Given the description of an element on the screen output the (x, y) to click on. 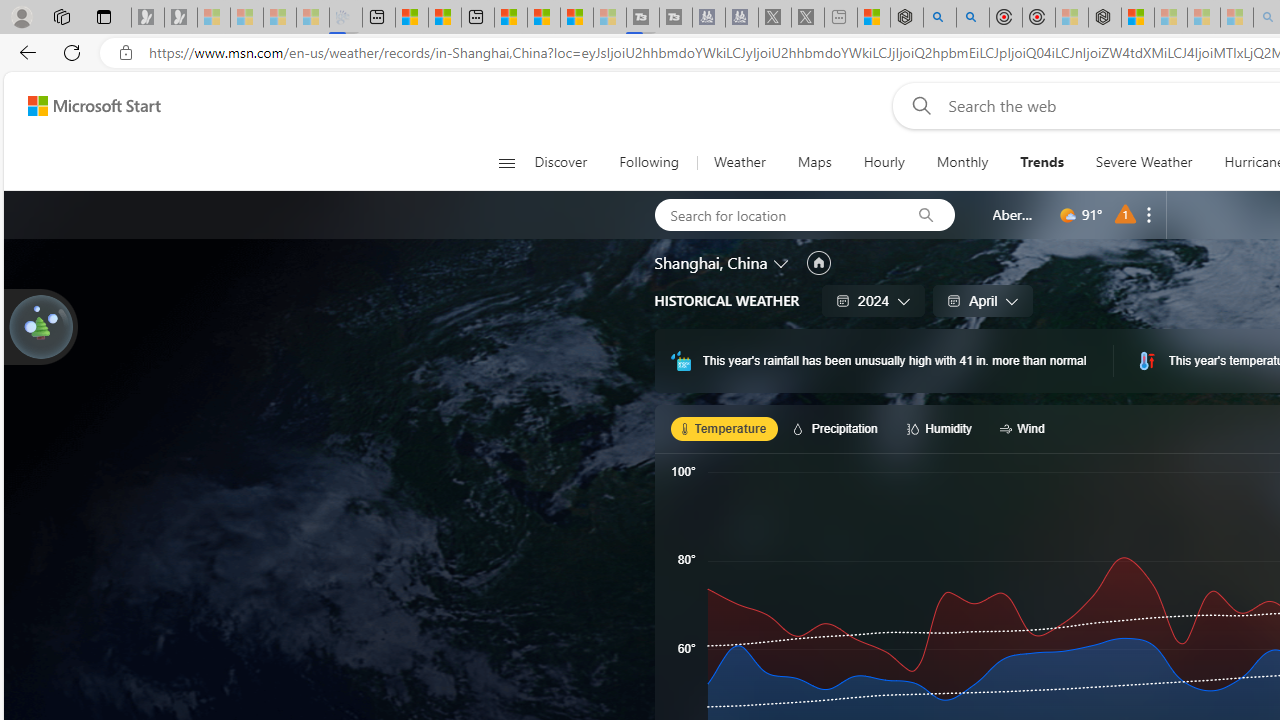
Join us in planting real trees to help our planet! (40, 325)
Set as primary location (818, 263)
Remove location (1149, 214)
Wind (1025, 428)
Search for location (776, 214)
Maps (813, 162)
Skip to footer (82, 105)
